Given the description of an element on the screen output the (x, y) to click on. 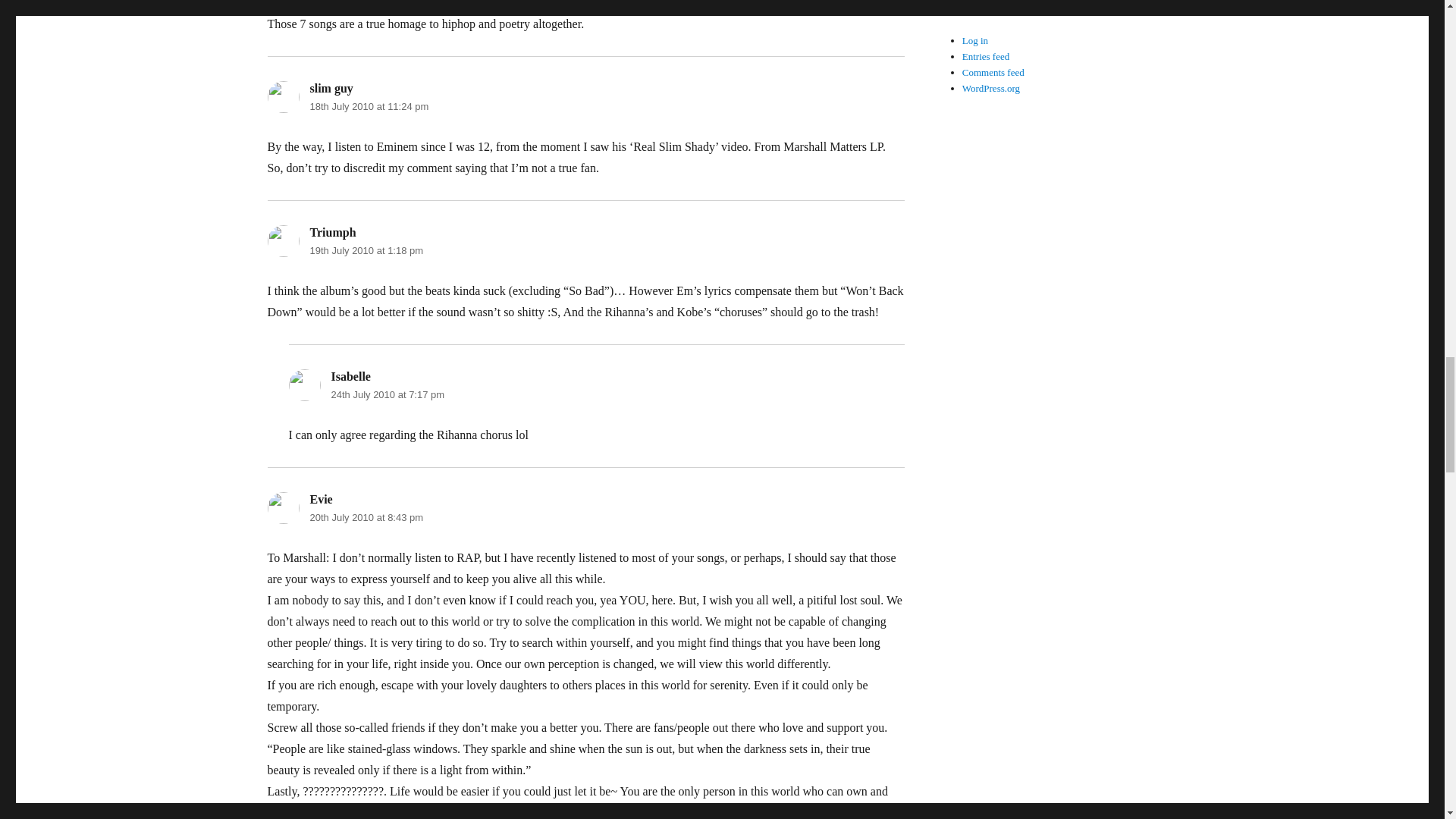
18th July 2010 at 11:24 pm (368, 106)
19th July 2010 at 1:18 pm (365, 250)
24th July 2010 at 7:17 pm (387, 394)
20th July 2010 at 8:43 pm (365, 517)
